Given the description of an element on the screen output the (x, y) to click on. 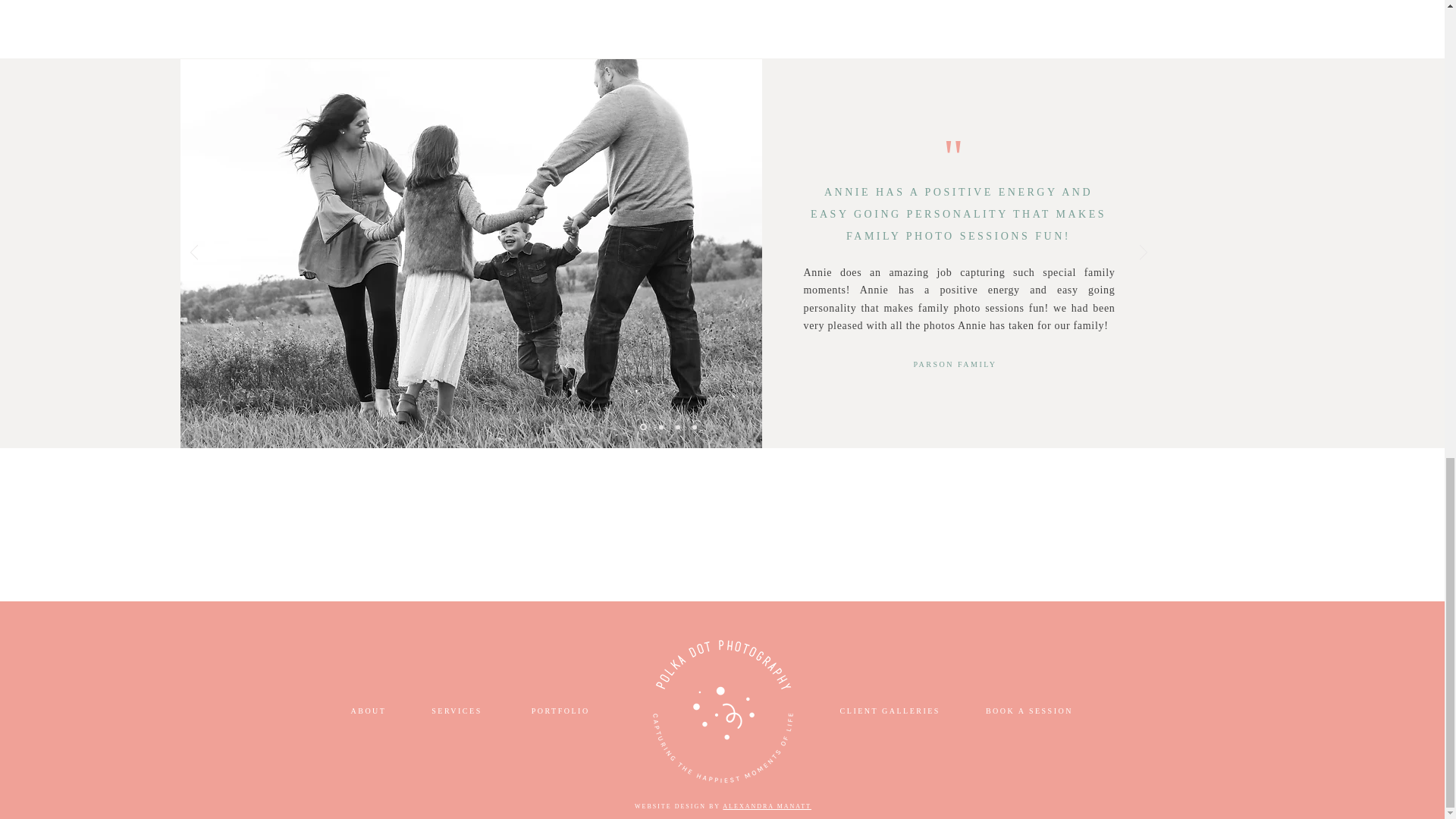
ALEXANDRA MANATT (766, 806)
BOOK A SESSION (1027, 710)
ABOUT (367, 710)
PORTFOLIO (560, 710)
CLIENT GALLERIES  (891, 710)
